Given the description of an element on the screen output the (x, y) to click on. 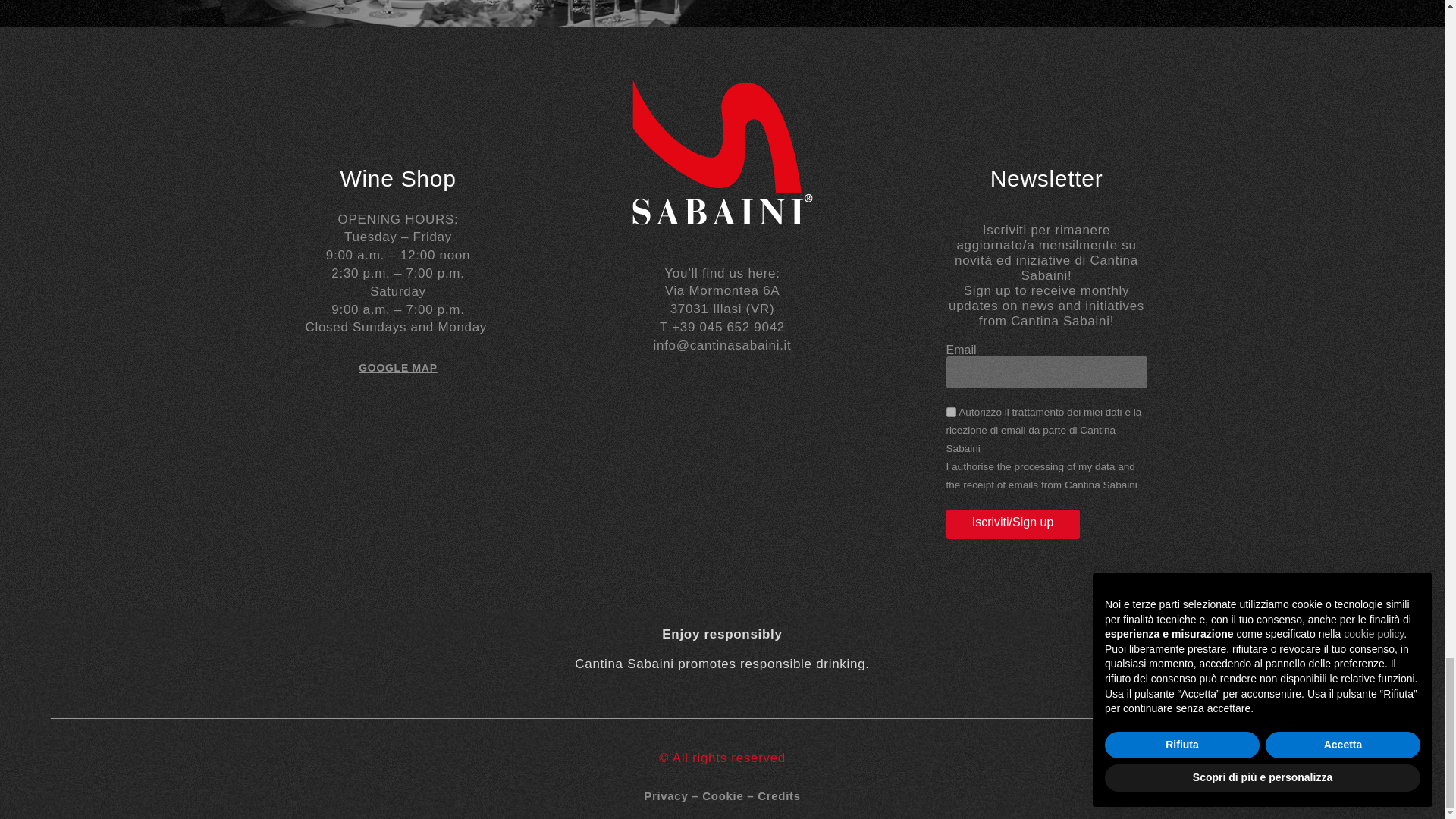
Credits (778, 795)
GOOGLE MAP (397, 367)
Privacy (665, 795)
on (951, 411)
Cookie (721, 795)
